Given the description of an element on the screen output the (x, y) to click on. 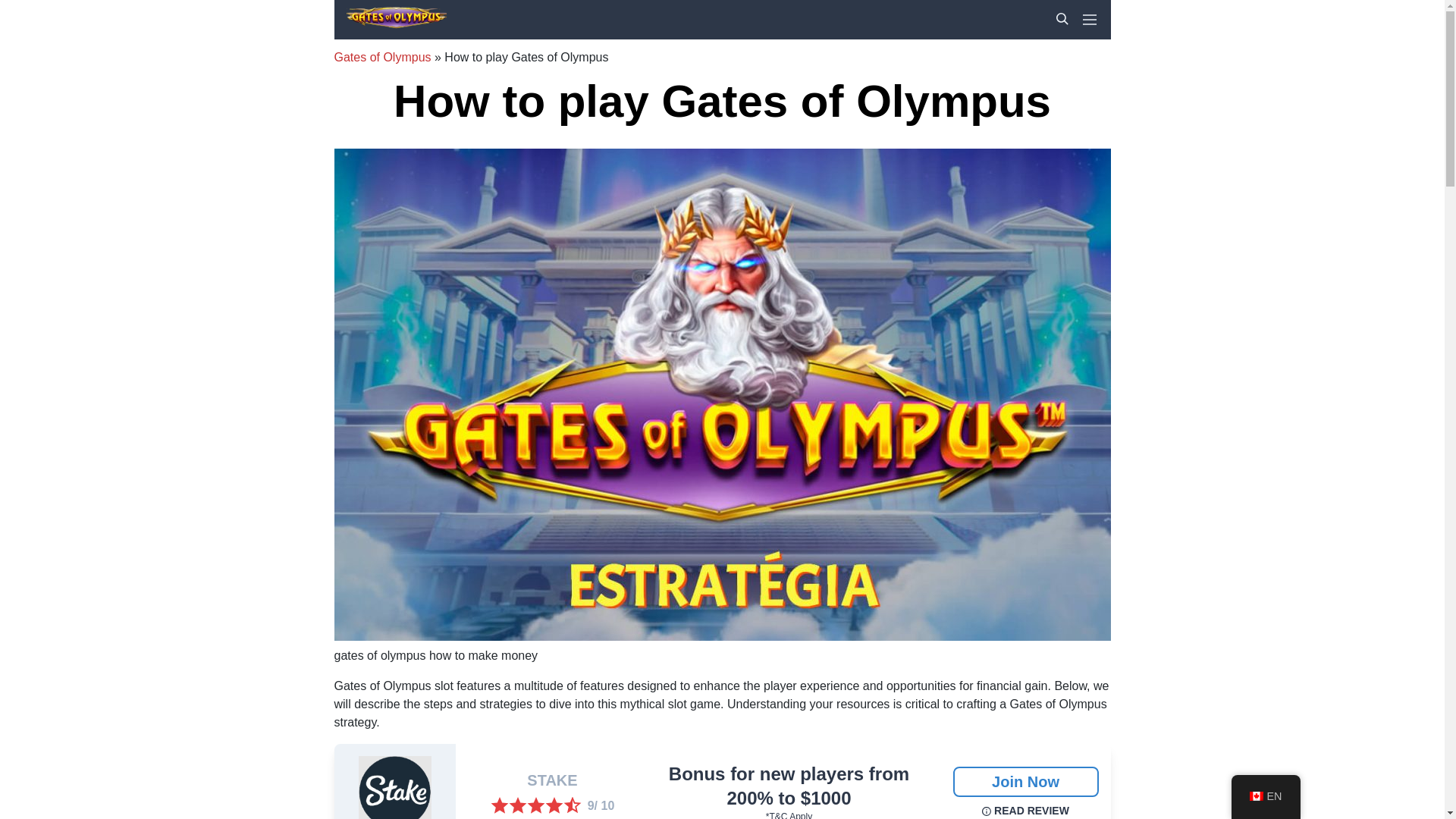
half empty star (571, 805)
full star (535, 805)
English (1256, 795)
HOW TO PLAY GATES OF OLYMPUS (463, 6)
BLAZE (410, 6)
Search (1061, 19)
full star (553, 805)
1WIN (406, 6)
Primary Menu (1088, 19)
888 CASINO (426, 6)
